Given the description of an element on the screen output the (x, y) to click on. 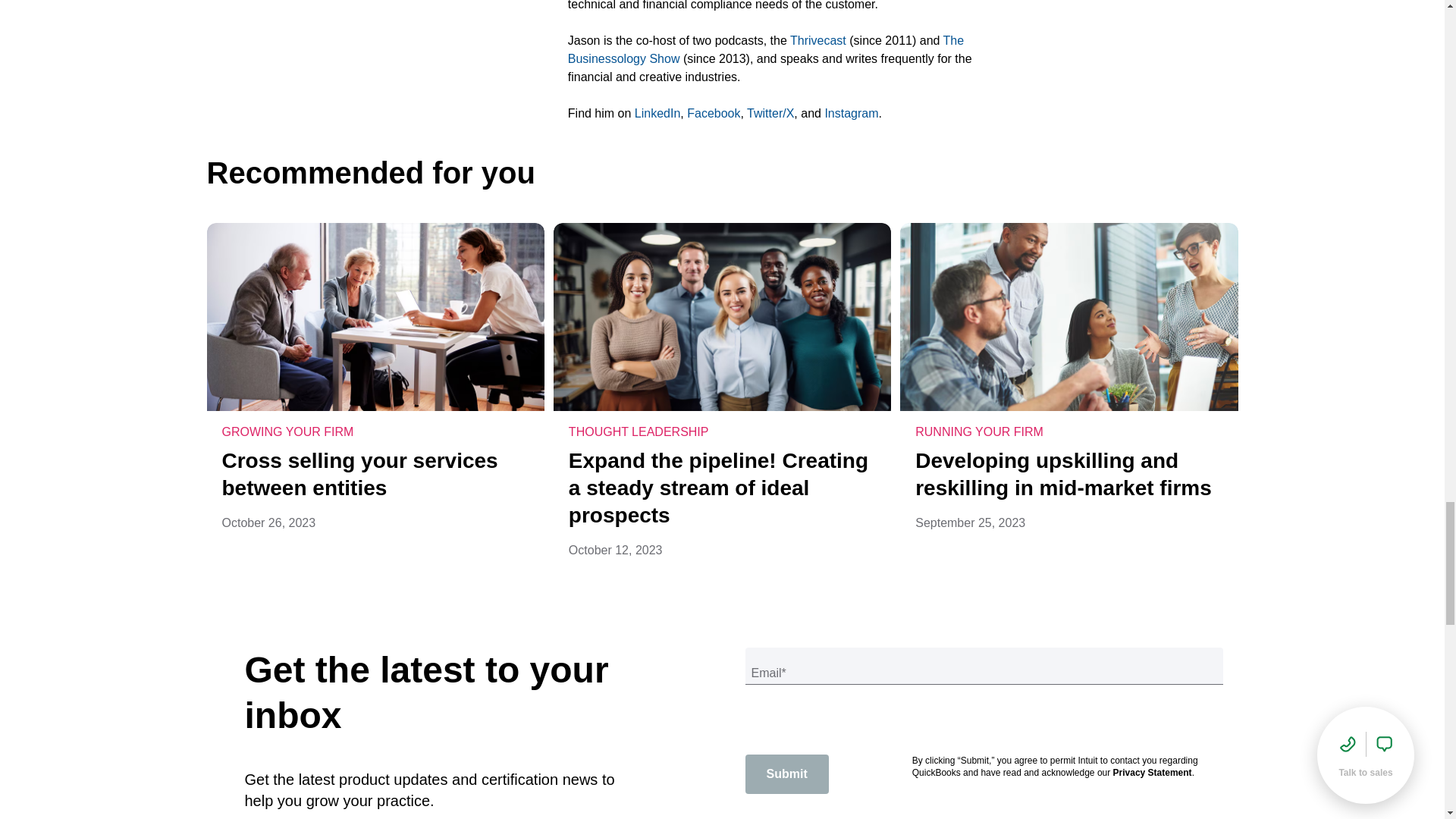
pipeline-prosoects-us-en (722, 316)
Submit (786, 773)
